Given the description of an element on the screen output the (x, y) to click on. 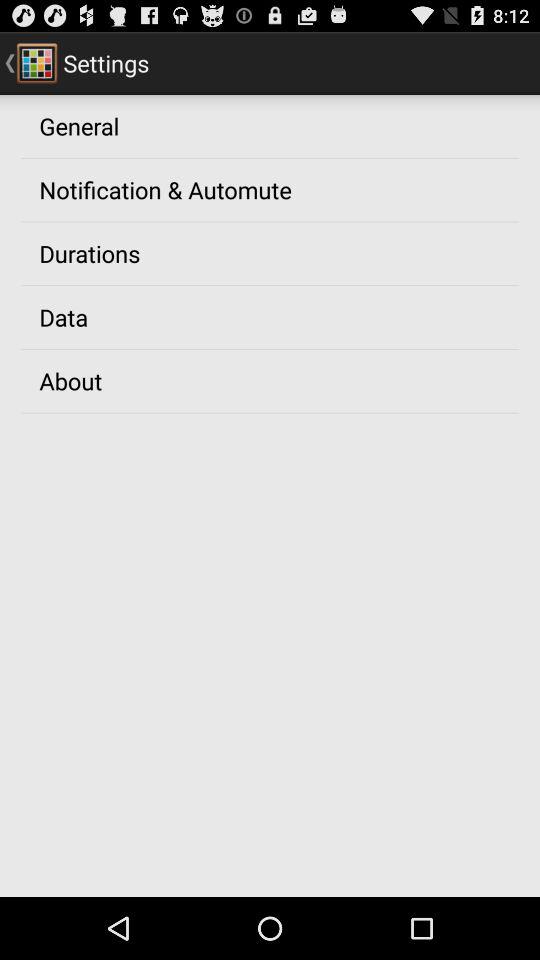
click the app below data (70, 380)
